Given the description of an element on the screen output the (x, y) to click on. 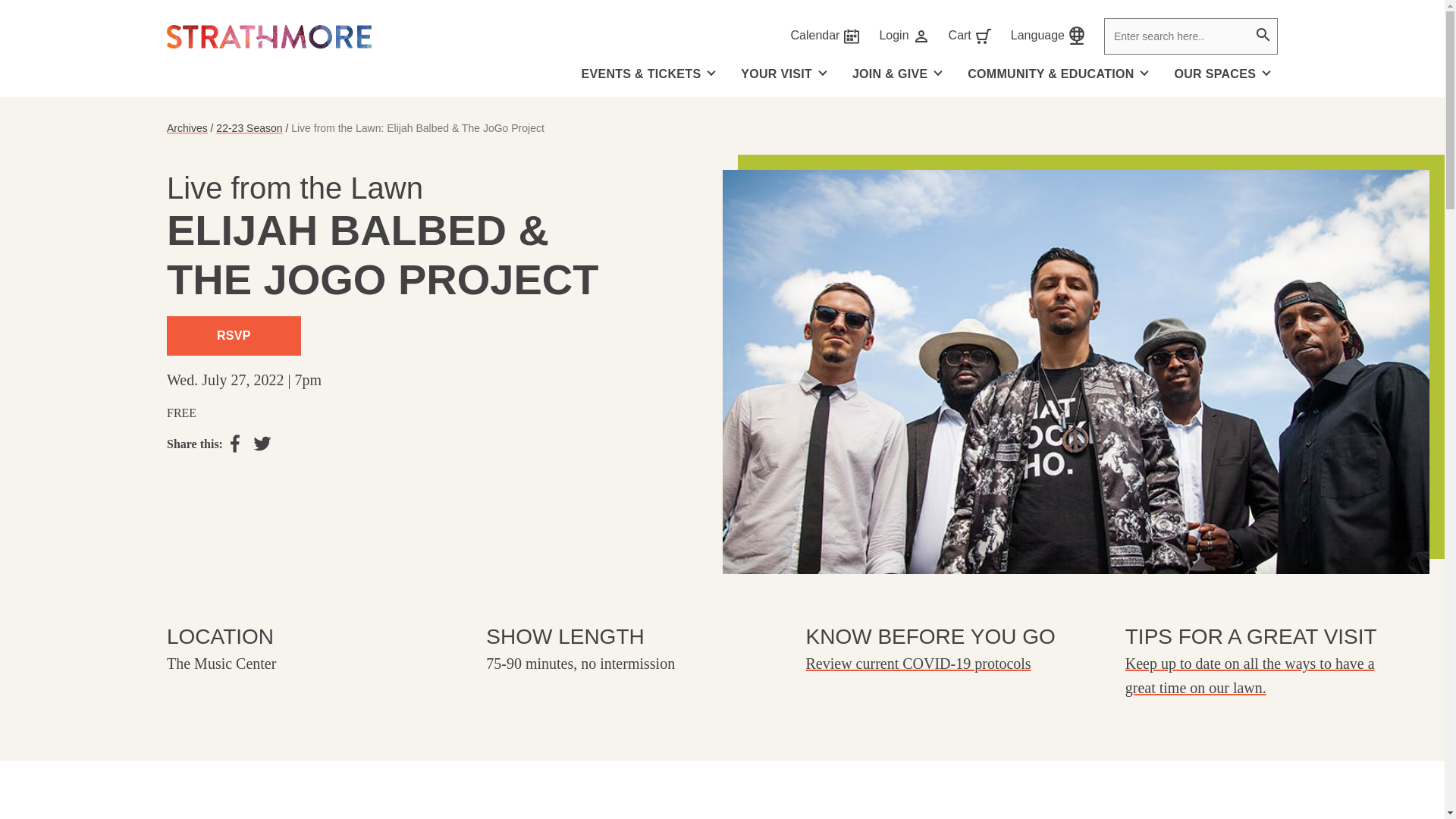
Language (1037, 35)
Login (787, 74)
Search (893, 35)
Calendar (1262, 36)
Cart (815, 35)
Welcome Back (960, 35)
